Given the description of an element on the screen output the (x, y) to click on. 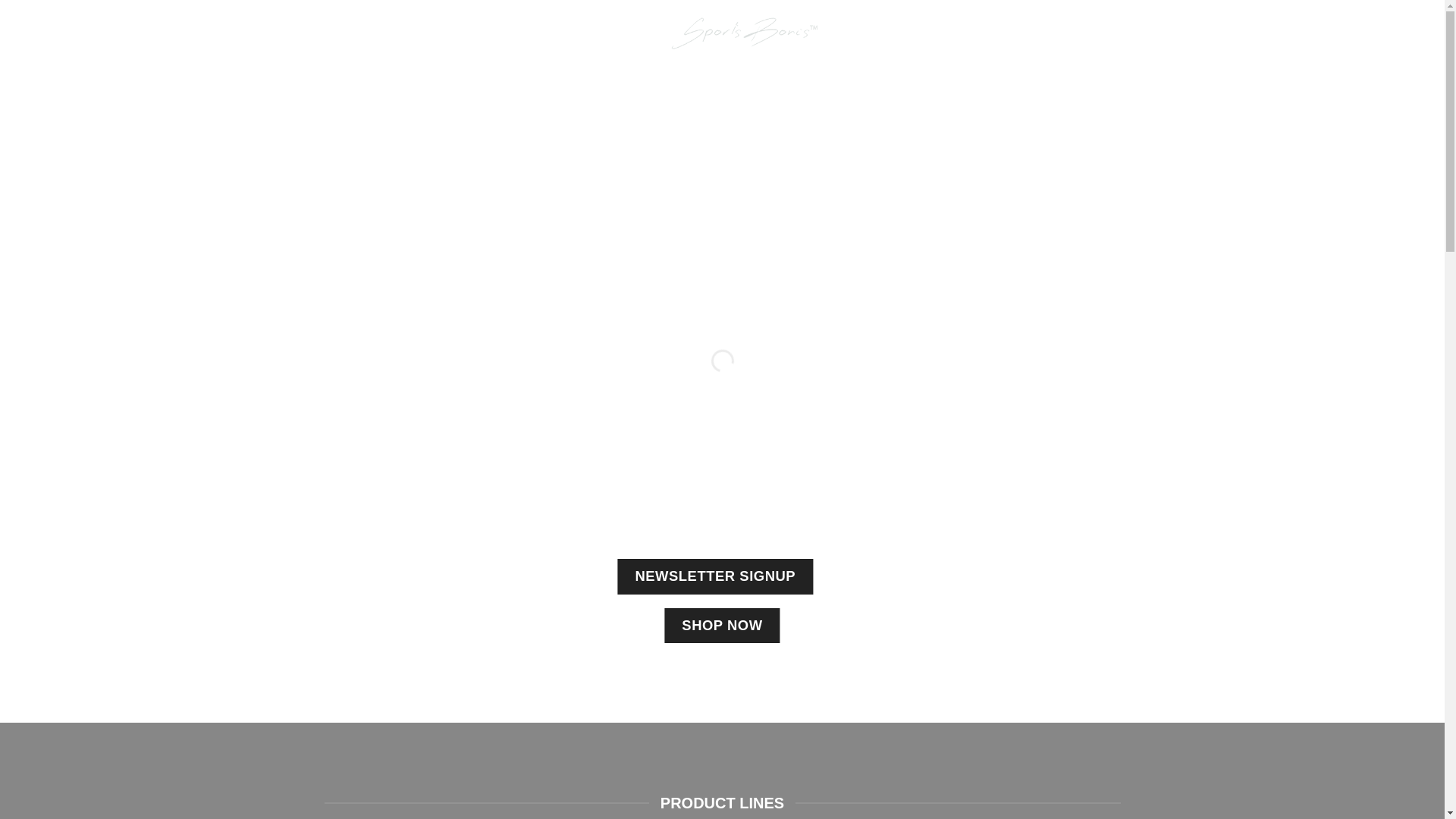
BLOG (103, 32)
POLICIES (262, 32)
ABOUT (55, 32)
Sports Bones - American Lifestyle Apparel (721, 33)
LOGIN (1281, 32)
SHOP NOW (720, 625)
NEWSLETTER SIGNUP (714, 575)
Cart (1377, 33)
